Given the description of an element on the screen output the (x, y) to click on. 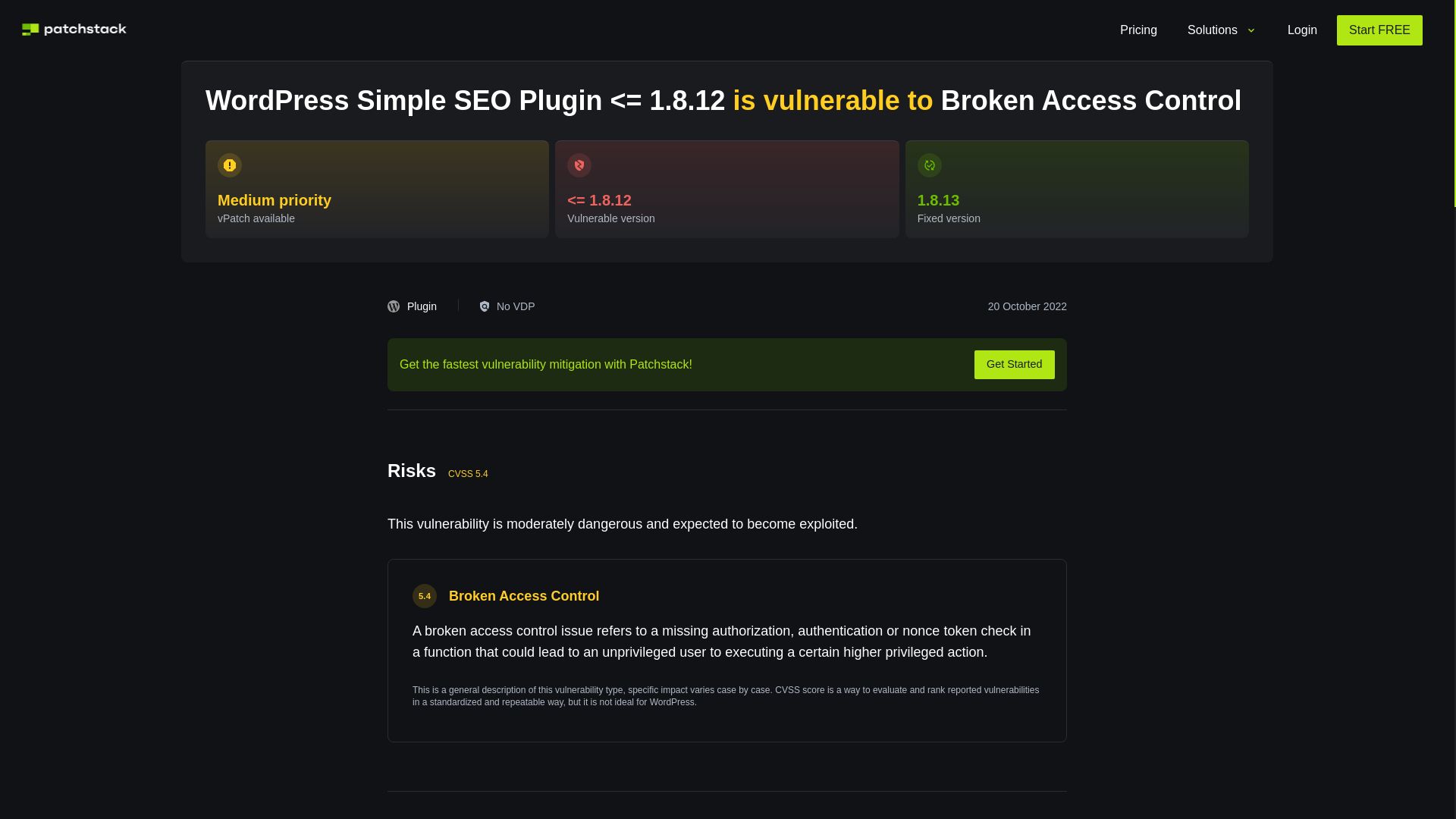
Solutions (1221, 30)
Login (1302, 30)
Get Started (1014, 364)
Pricing (1138, 30)
No VDP (507, 305)
Start FREE (1379, 30)
Plugin (416, 305)
